Given the description of an element on the screen output the (x, y) to click on. 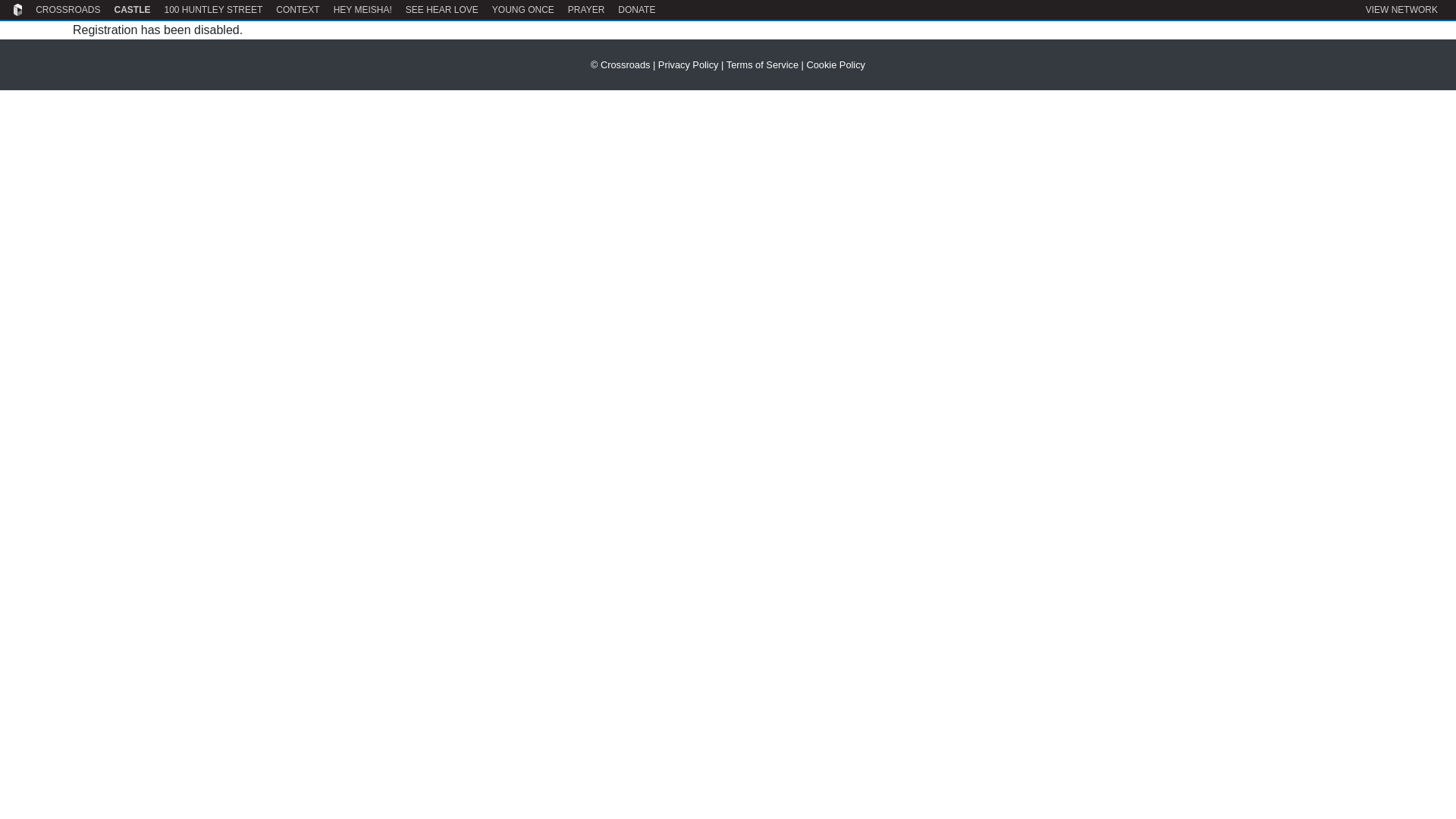
Terms of Service (761, 64)
100 HUNTLEY STREET (212, 9)
CROSSROADS NETWORK (17, 9)
VIEW NETWORK (1401, 9)
Privacy Policy (688, 64)
CROSSROADS (67, 9)
YOUNG ONCE (523, 9)
Cookie Policy (835, 64)
CROSSROADS NETWORK (17, 9)
SEE HEAR LOVE (441, 9)
